Given the description of an element on the screen output the (x, y) to click on. 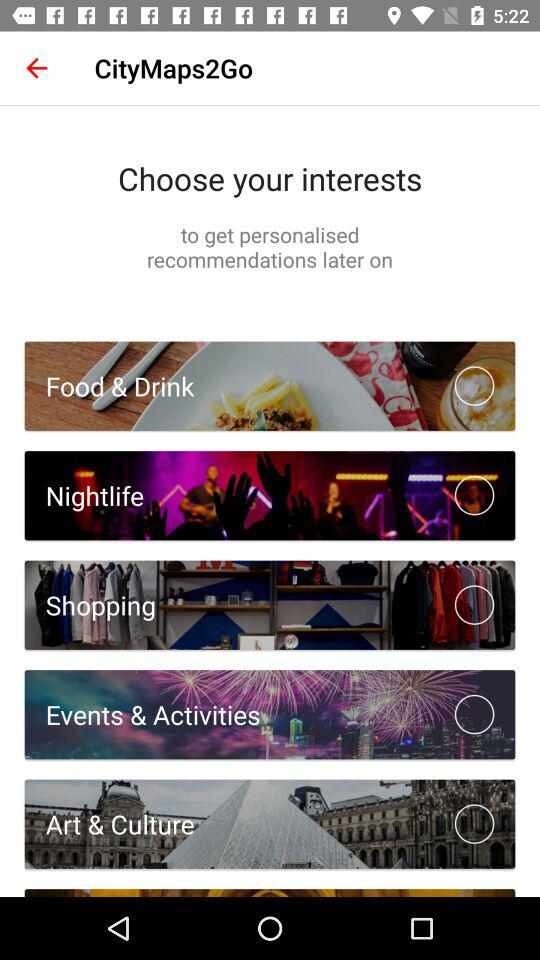
press item below the to get personalised icon (109, 385)
